Given the description of an element on the screen output the (x, y) to click on. 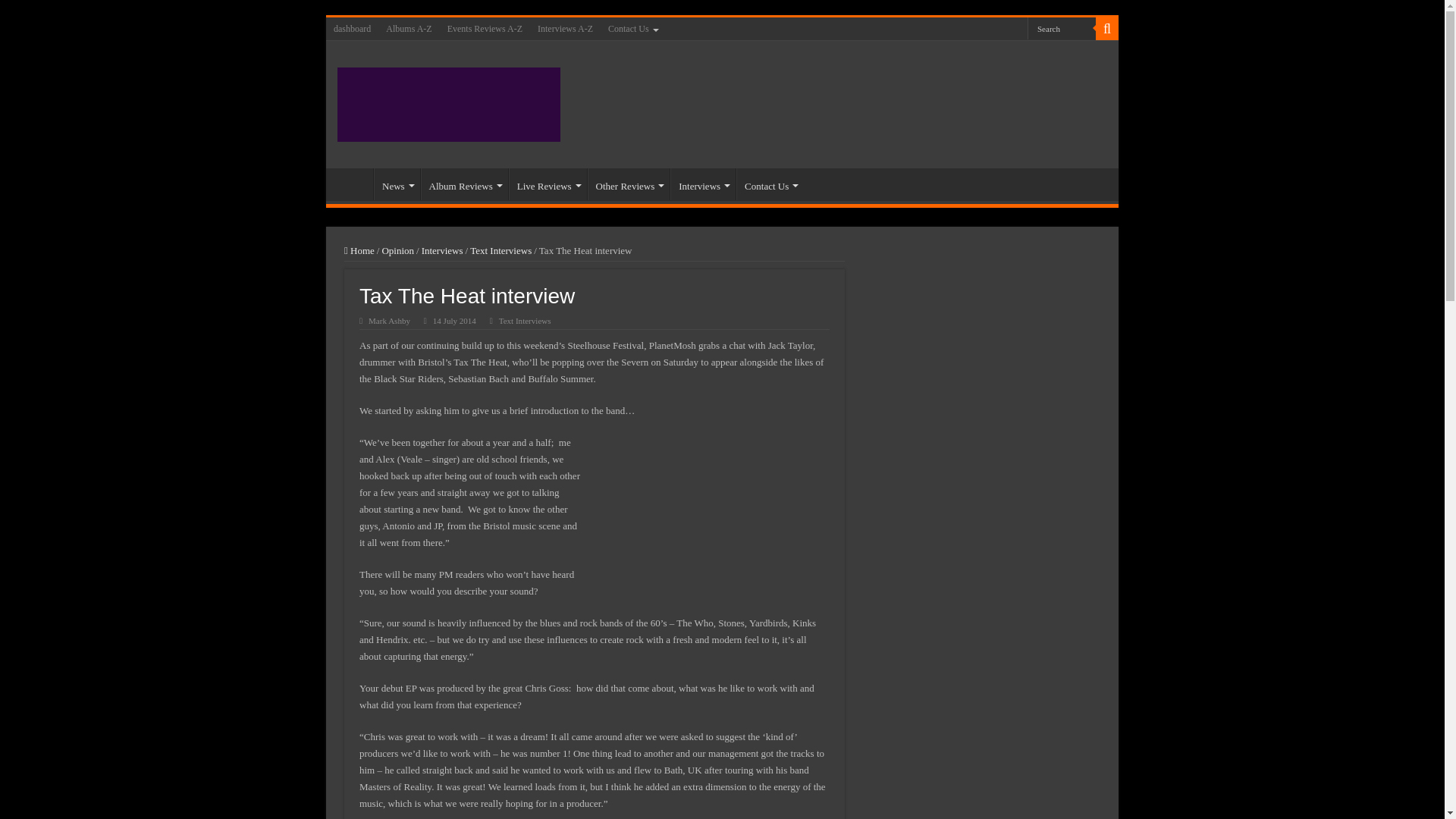
Other Reviews (628, 183)
Search (1107, 28)
News (397, 183)
Search (1061, 28)
Search (1061, 28)
Interviews (702, 183)
PlanetMosh (448, 101)
Interviews A-Z (564, 28)
Live Reviews (547, 183)
Albums A-Z (408, 28)
Search (1061, 28)
Home (352, 183)
Contact Us (631, 28)
Events Reviews A-Z (484, 28)
Album Reviews (464, 183)
